Given the description of an element on the screen output the (x, y) to click on. 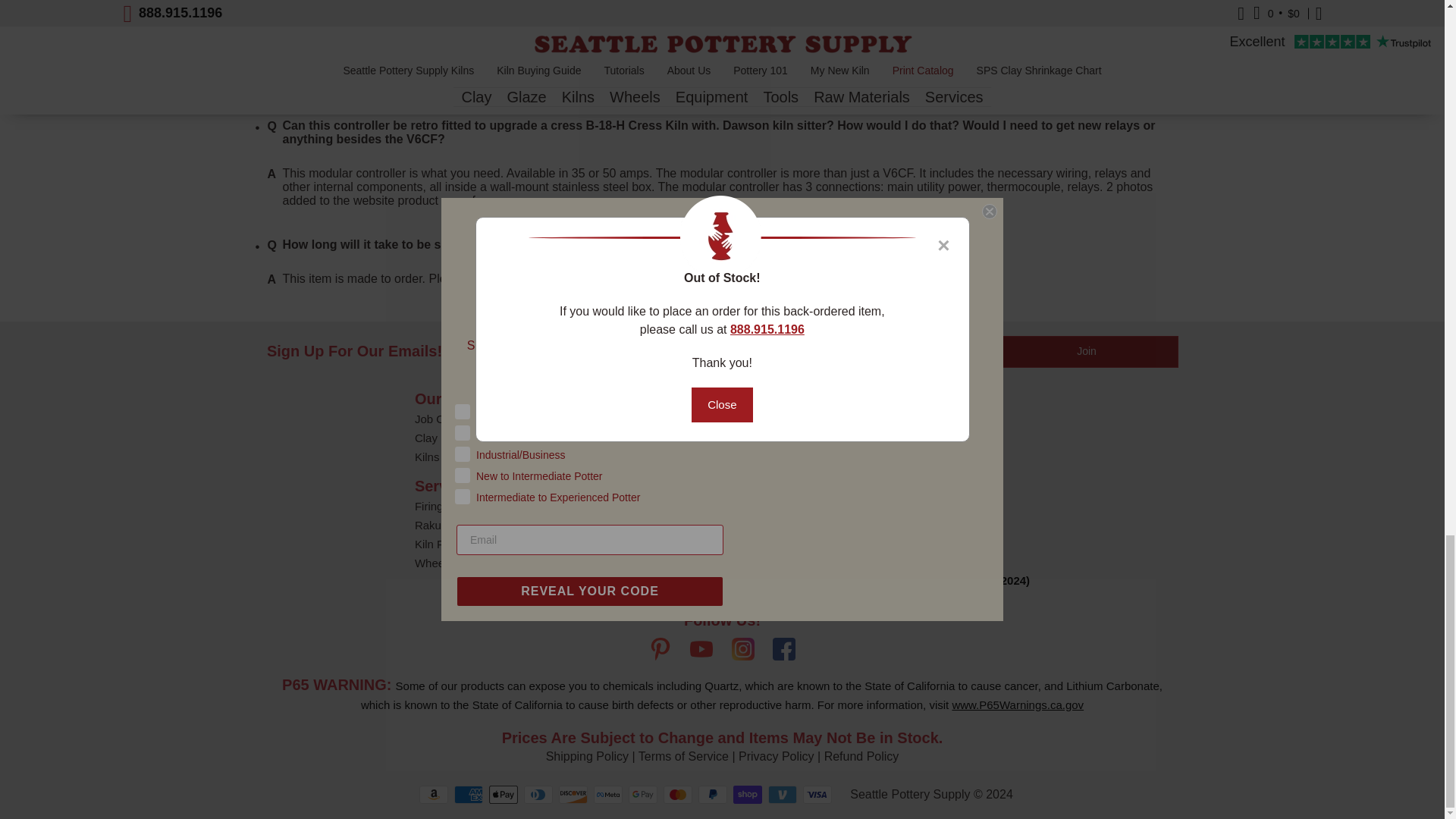
Apple Pay (503, 794)
Meta Pay (608, 794)
Amazon (433, 794)
Venmo (782, 794)
Google Pay (643, 794)
Mastercard (678, 794)
Shop Pay (747, 794)
Diners Club (538, 794)
Visa (817, 794)
Join (1086, 351)
PayPal (712, 794)
Discover (573, 794)
American Express (468, 794)
